Given the description of an element on the screen output the (x, y) to click on. 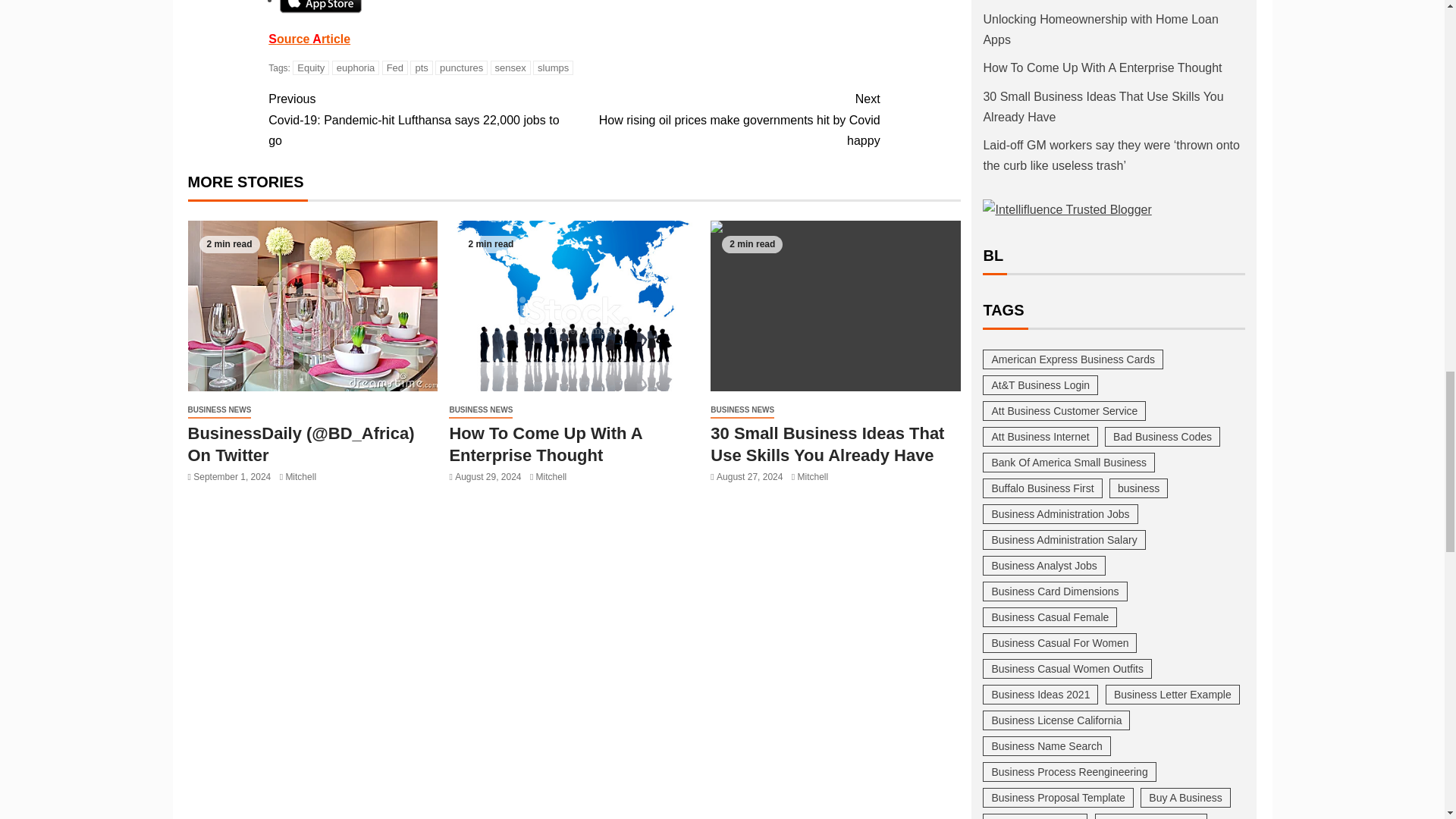
slumps (552, 67)
euphoria (355, 67)
punctures (461, 67)
sensex (510, 67)
Fed (394, 67)
IOS App (320, 2)
Equity (310, 67)
pts (421, 67)
30 Small Business Ideas That Use Skills You Already Have (835, 305)
